Given the description of an element on the screen output the (x, y) to click on. 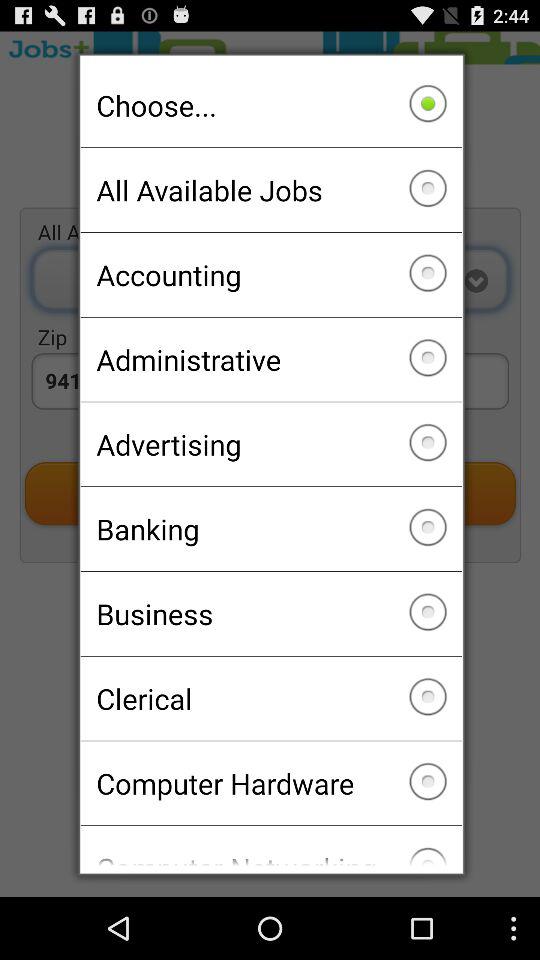
turn on business (270, 613)
